Given the description of an element on the screen output the (x, y) to click on. 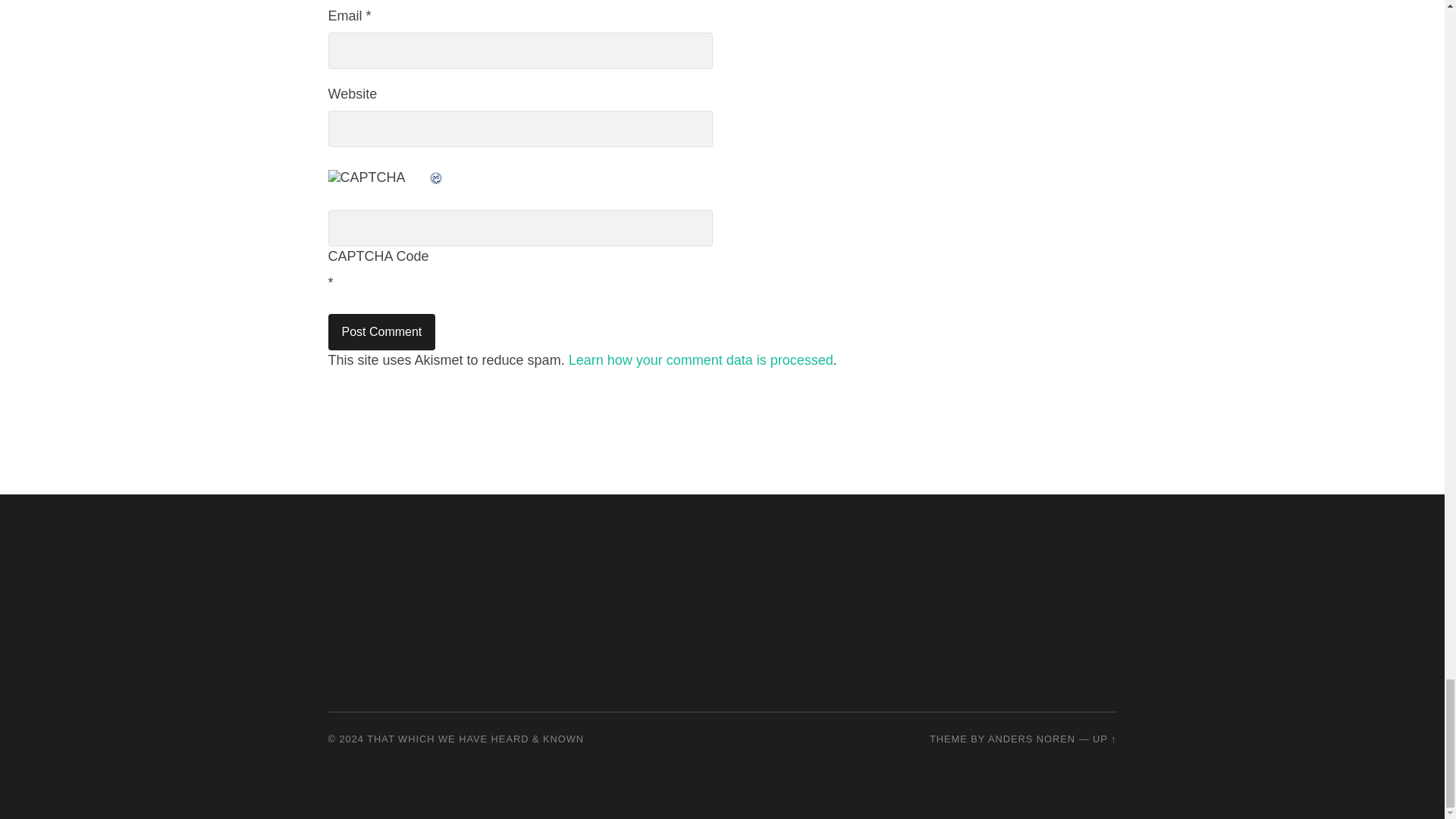
To the top (1104, 738)
CAPTCHA (377, 185)
Refresh (436, 177)
Post Comment (381, 331)
